Given the description of an element on the screen output the (x, y) to click on. 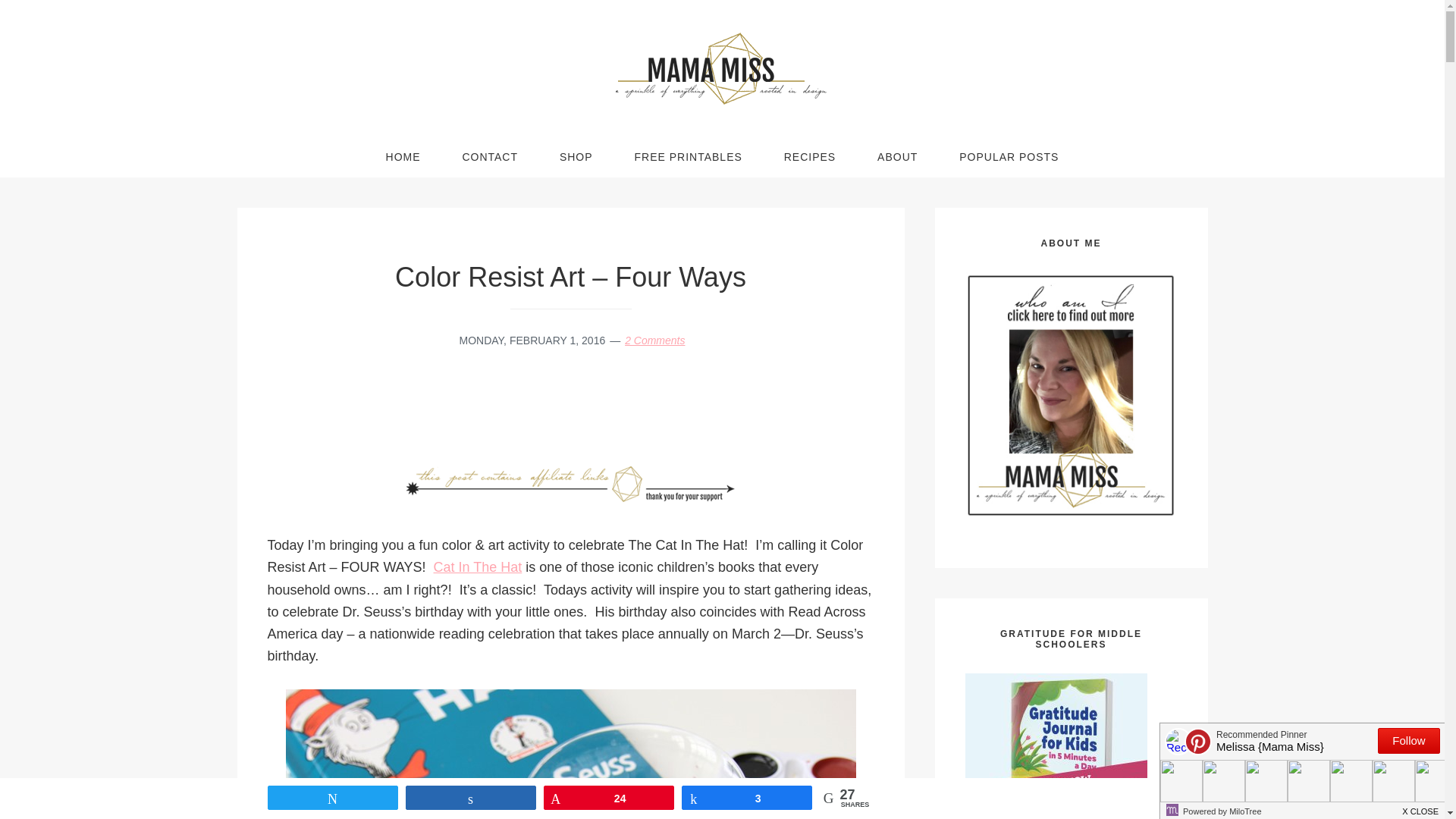
ABOUT (897, 156)
Shop (575, 156)
RECIPES (809, 156)
Popular Posts (1008, 156)
2 Comments (654, 340)
HOME (402, 156)
SHOP (575, 156)
POPULAR POSTS (1008, 156)
Free Printables (688, 156)
Contact (489, 156)
CONTACT (489, 156)
Cat In The Hat (477, 566)
FREE PRINTABLES (688, 156)
About (897, 156)
Advertisement (542, 409)
